Given the description of an element on the screen output the (x, y) to click on. 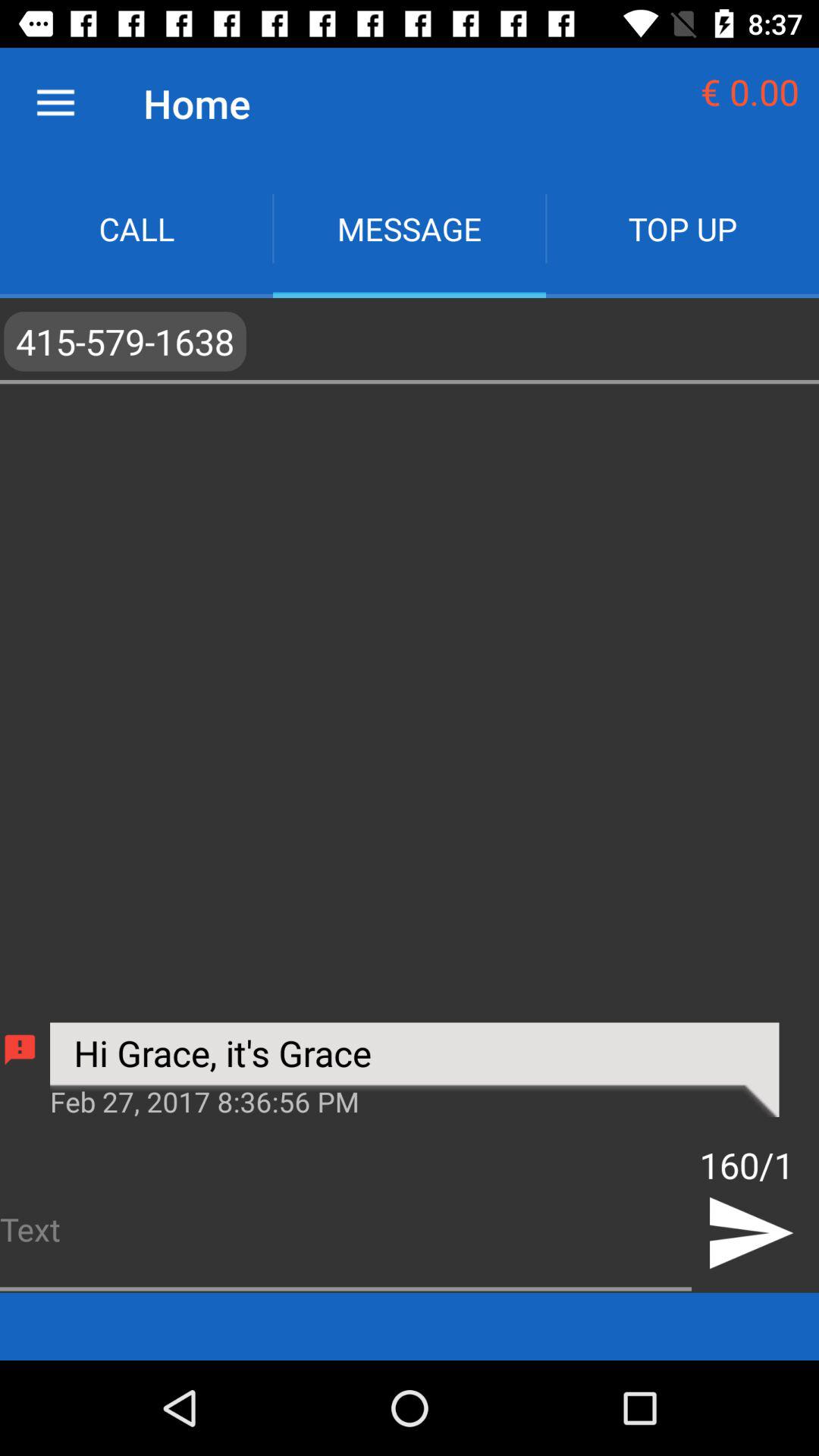
turn on the hi grace it icon (414, 1069)
